Given the description of an element on the screen output the (x, y) to click on. 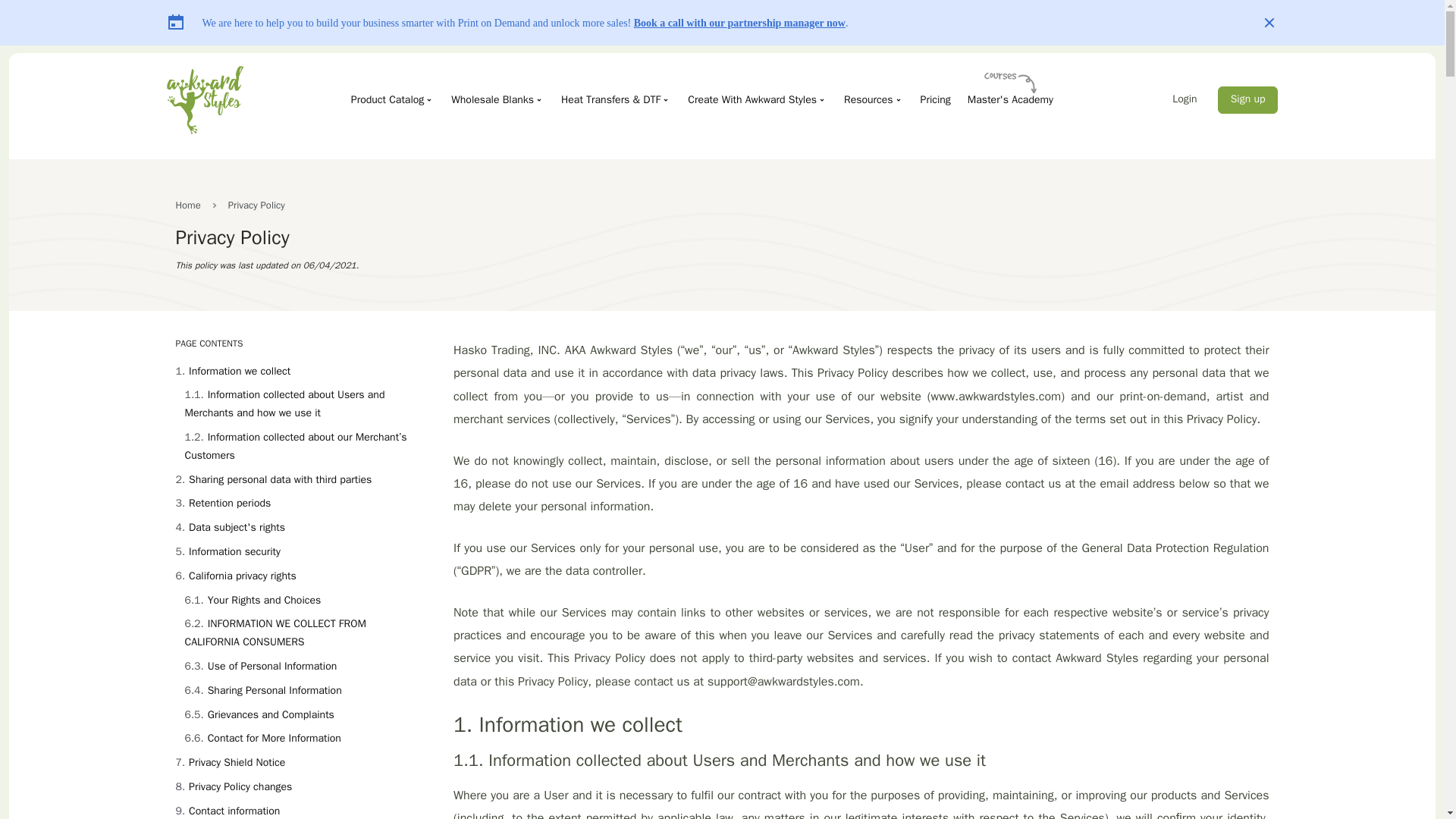
Resources (872, 99)
Master's Academy (1009, 99)
Book a call with our partnership manager now (739, 21)
Create With Awkward Styles (756, 99)
Product Catalog (392, 99)
Pricing (934, 99)
Wholesale Blanks (496, 99)
Login (1183, 99)
Sign up (1247, 99)
